Given the description of an element on the screen output the (x, y) to click on. 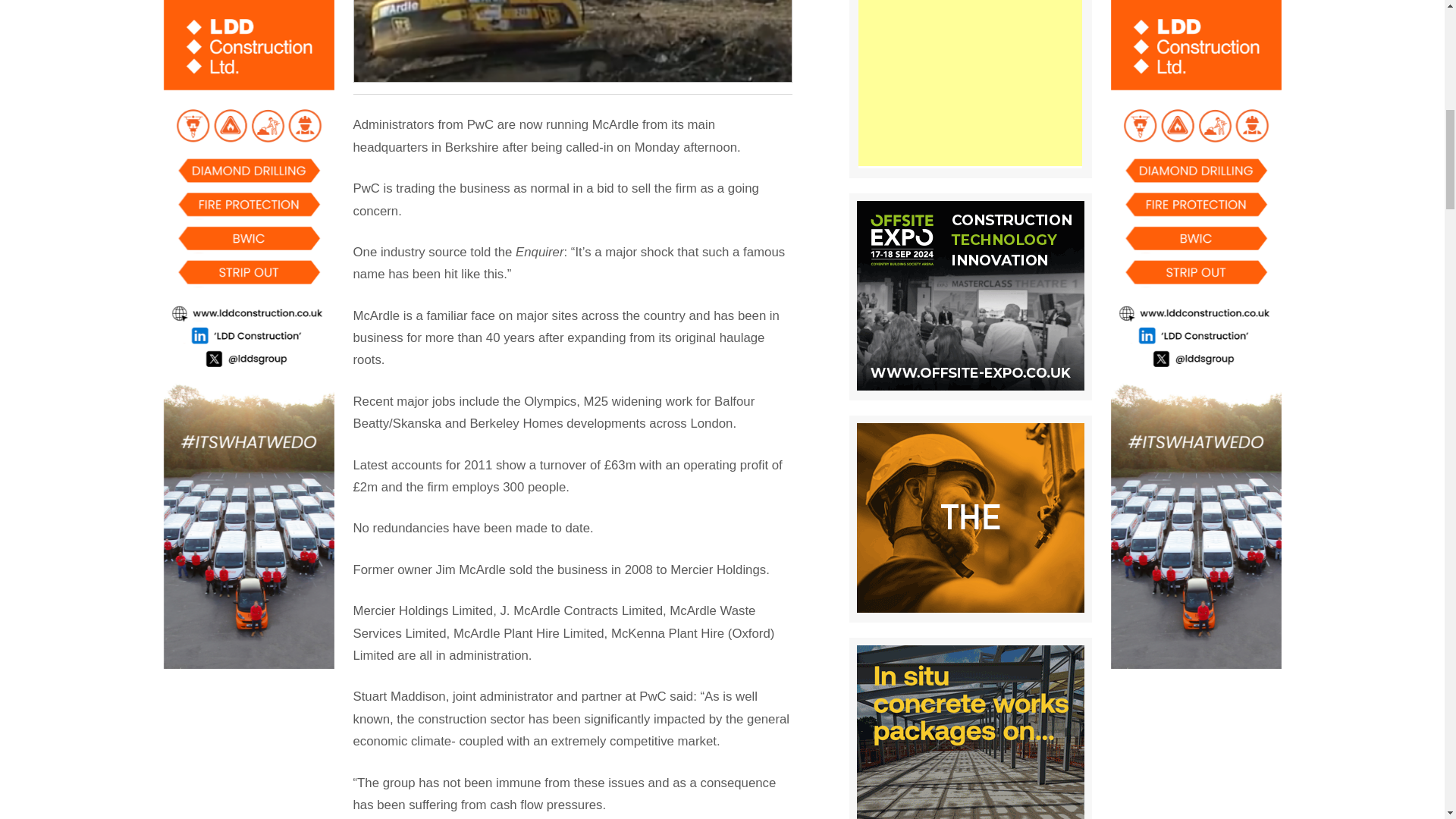
Advertisement (970, 83)
